Given the description of an element on the screen output the (x, y) to click on. 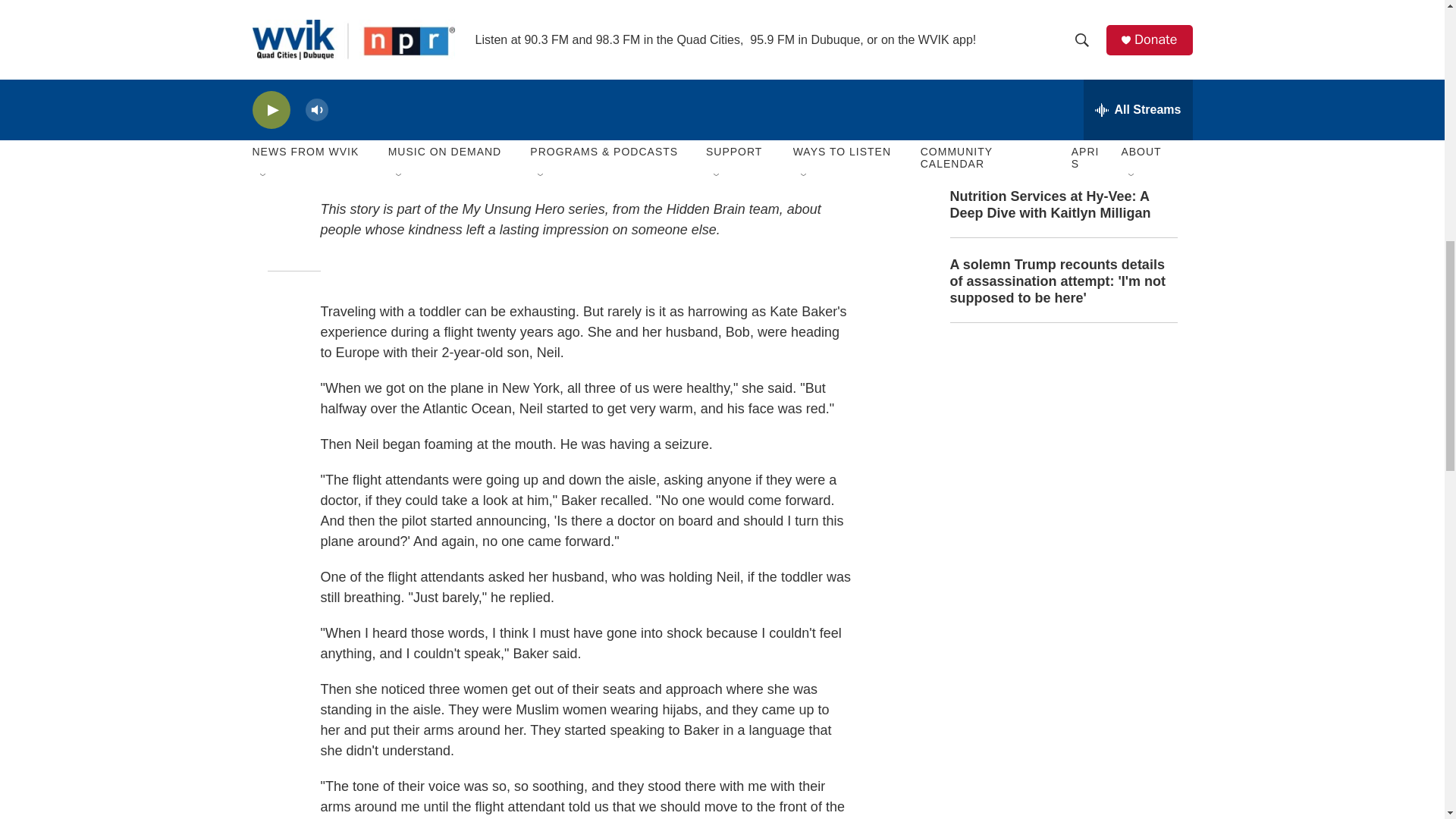
3rd party ad content (1062, 447)
